Given the description of an element on the screen output the (x, y) to click on. 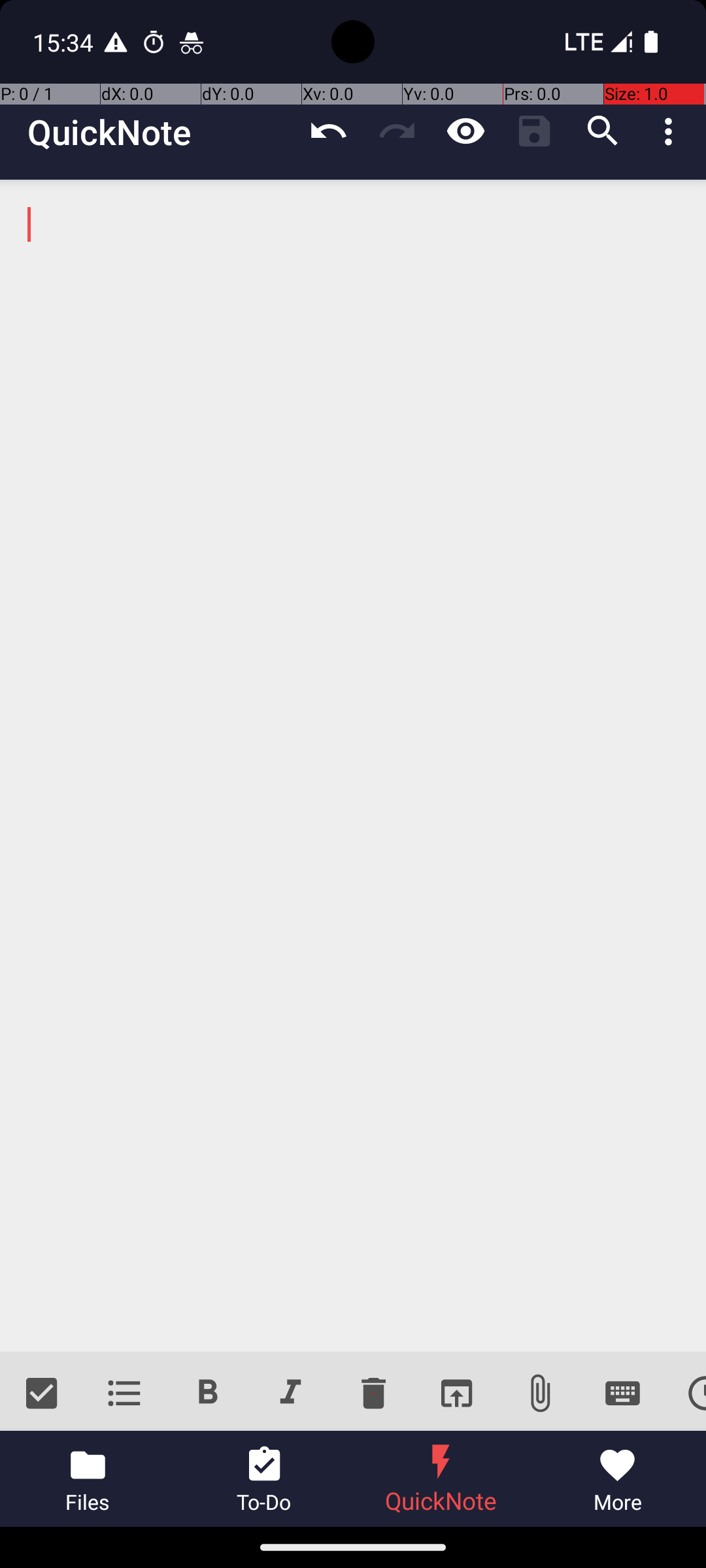
Chrome notification: Incognito Tabs Element type: android.widget.ImageView (191, 41)
